Given the description of an element on the screen output the (x, y) to click on. 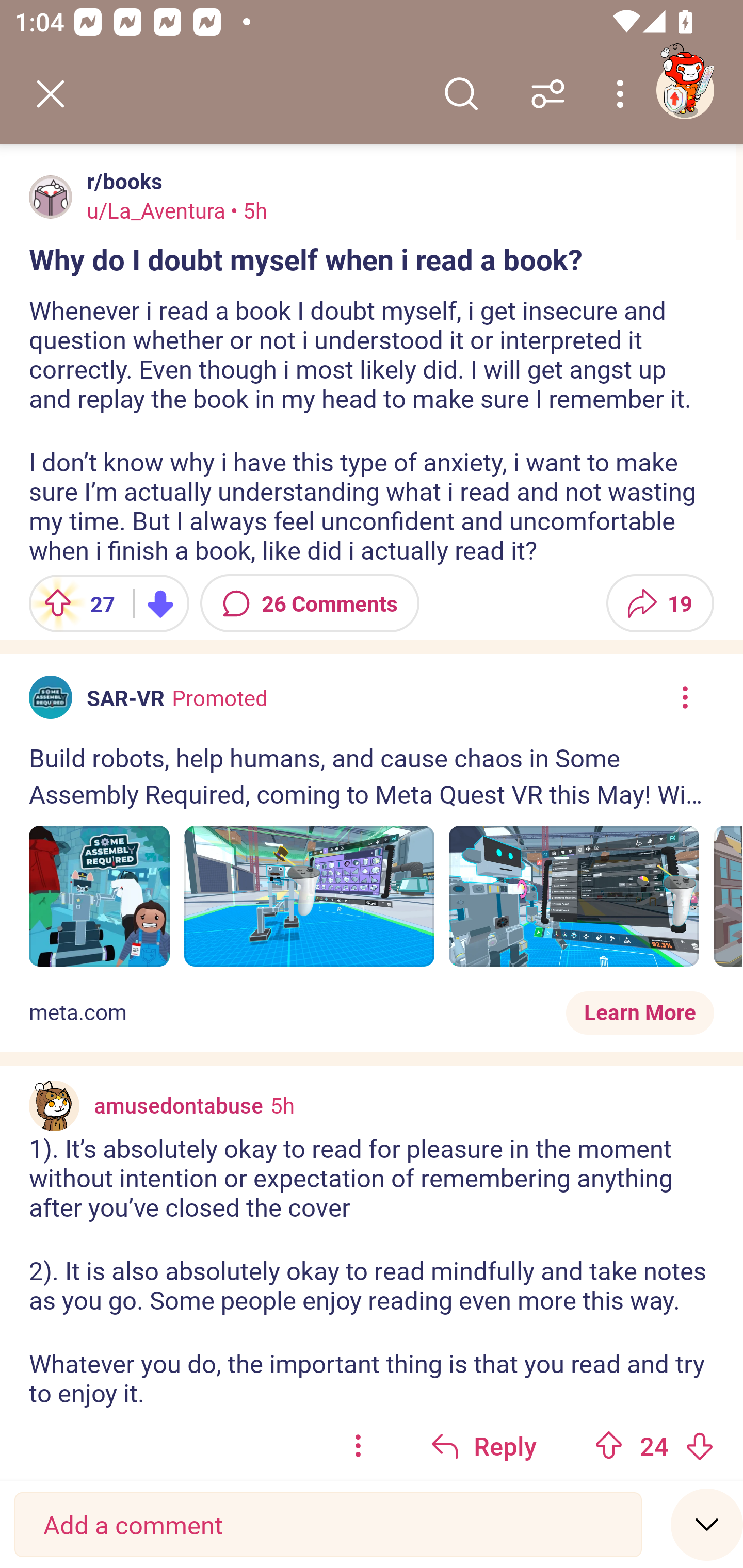
Back (50, 93)
TestAppium002 account (685, 90)
Search comments (460, 93)
Sort comments (547, 93)
More options (623, 93)
r/books (120, 181)
Avatar (50, 196)
u/La_Aventura (155, 210)
Upvote 27 Downvote 26 Comments Share 19 (371, 603)
Upvote 27 (73, 603)
26 Comments (309, 603)
Share 19 (660, 603)
Image 1 of 5.  (98, 895)
Image 2 of 5.  (309, 895)
Image 3 of 5.  (573, 895)
Custom avatar (53, 1105)
5h (282, 1104)
options (358, 1445)
Reply (483, 1445)
Upvote 24 24 votes Downvote (654, 1445)
Upvote (608, 1445)
Downvote (699, 1445)
Speed read (706, 1524)
Add a comment (327, 1524)
